Given the description of an element on the screen output the (x, y) to click on. 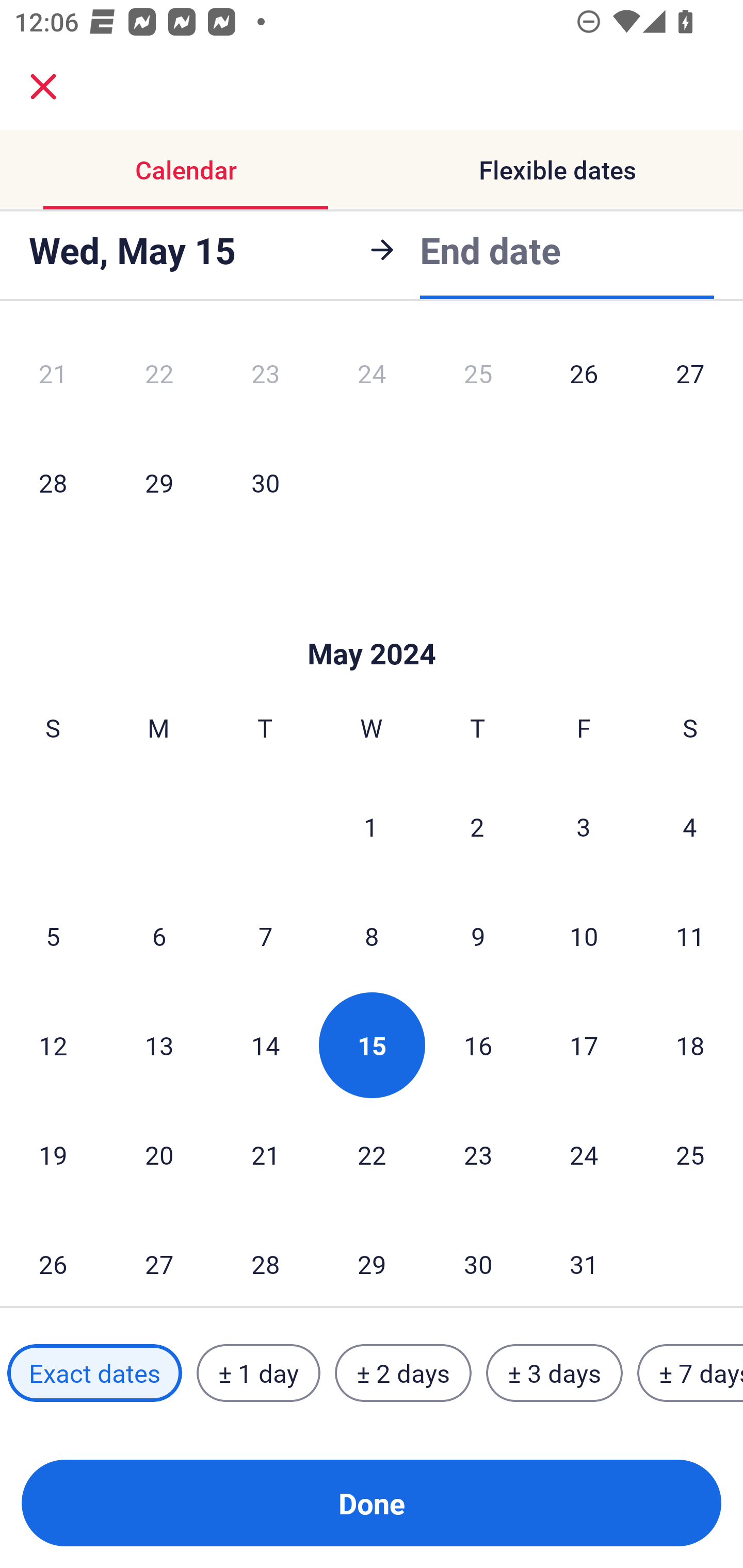
close. (43, 86)
Flexible dates (557, 170)
End date (489, 249)
21 Sunday, April 21, 2024 (53, 378)
22 Monday, April 22, 2024 (159, 378)
23 Tuesday, April 23, 2024 (265, 378)
24 Wednesday, April 24, 2024 (371, 378)
25 Thursday, April 25, 2024 (477, 378)
26 Friday, April 26, 2024 (584, 378)
27 Saturday, April 27, 2024 (690, 378)
28 Sunday, April 28, 2024 (53, 481)
29 Monday, April 29, 2024 (159, 481)
30 Tuesday, April 30, 2024 (265, 481)
Skip to Done (371, 623)
1 Wednesday, May 1, 2024 (371, 826)
2 Thursday, May 2, 2024 (477, 826)
3 Friday, May 3, 2024 (583, 826)
4 Saturday, May 4, 2024 (689, 826)
5 Sunday, May 5, 2024 (53, 935)
6 Monday, May 6, 2024 (159, 935)
7 Tuesday, May 7, 2024 (265, 935)
8 Wednesday, May 8, 2024 (371, 935)
9 Thursday, May 9, 2024 (477, 935)
10 Friday, May 10, 2024 (584, 935)
11 Saturday, May 11, 2024 (690, 935)
12 Sunday, May 12, 2024 (53, 1044)
13 Monday, May 13, 2024 (159, 1044)
14 Tuesday, May 14, 2024 (265, 1044)
16 Thursday, May 16, 2024 (477, 1044)
17 Friday, May 17, 2024 (584, 1044)
18 Saturday, May 18, 2024 (690, 1044)
19 Sunday, May 19, 2024 (53, 1154)
20 Monday, May 20, 2024 (159, 1154)
21 Tuesday, May 21, 2024 (265, 1154)
22 Wednesday, May 22, 2024 (371, 1154)
23 Thursday, May 23, 2024 (477, 1154)
24 Friday, May 24, 2024 (584, 1154)
25 Saturday, May 25, 2024 (690, 1154)
26 Sunday, May 26, 2024 (53, 1258)
27 Monday, May 27, 2024 (159, 1258)
28 Tuesday, May 28, 2024 (265, 1258)
29 Wednesday, May 29, 2024 (371, 1258)
30 Thursday, May 30, 2024 (477, 1258)
31 Friday, May 31, 2024 (584, 1258)
Exact dates (94, 1372)
± 1 day (258, 1372)
± 2 days (403, 1372)
± 3 days (553, 1372)
± 7 days (690, 1372)
Done (371, 1502)
